Given the description of an element on the screen output the (x, y) to click on. 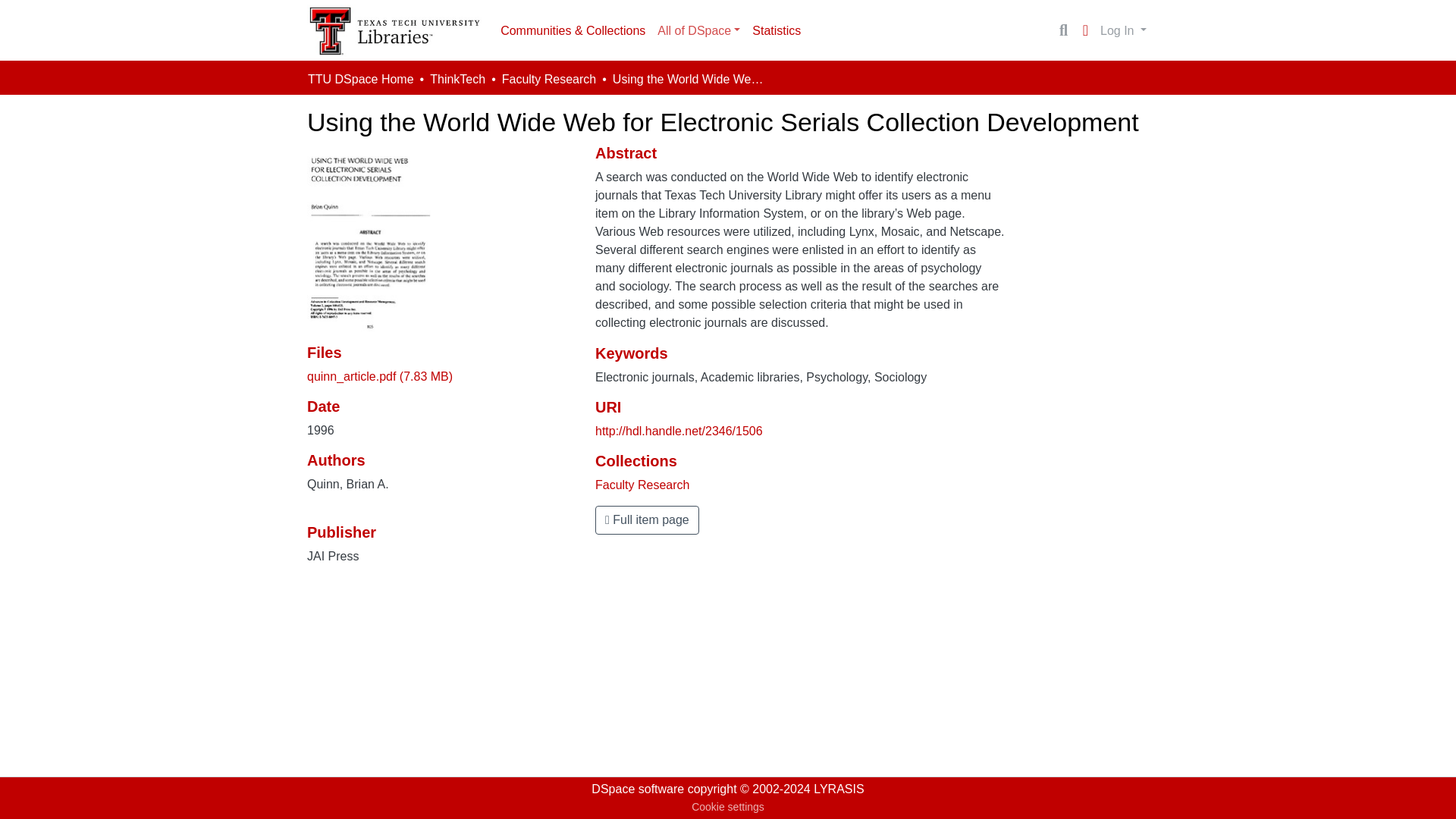
Cookie settings (727, 806)
DSpace software (637, 788)
Full item page (646, 520)
LYRASIS (838, 788)
Faculty Research (642, 484)
Statistics (775, 30)
Search (1063, 30)
TTU DSpace Home (360, 79)
Language switch (1084, 30)
All of DSpace (697, 30)
